Given the description of an element on the screen output the (x, y) to click on. 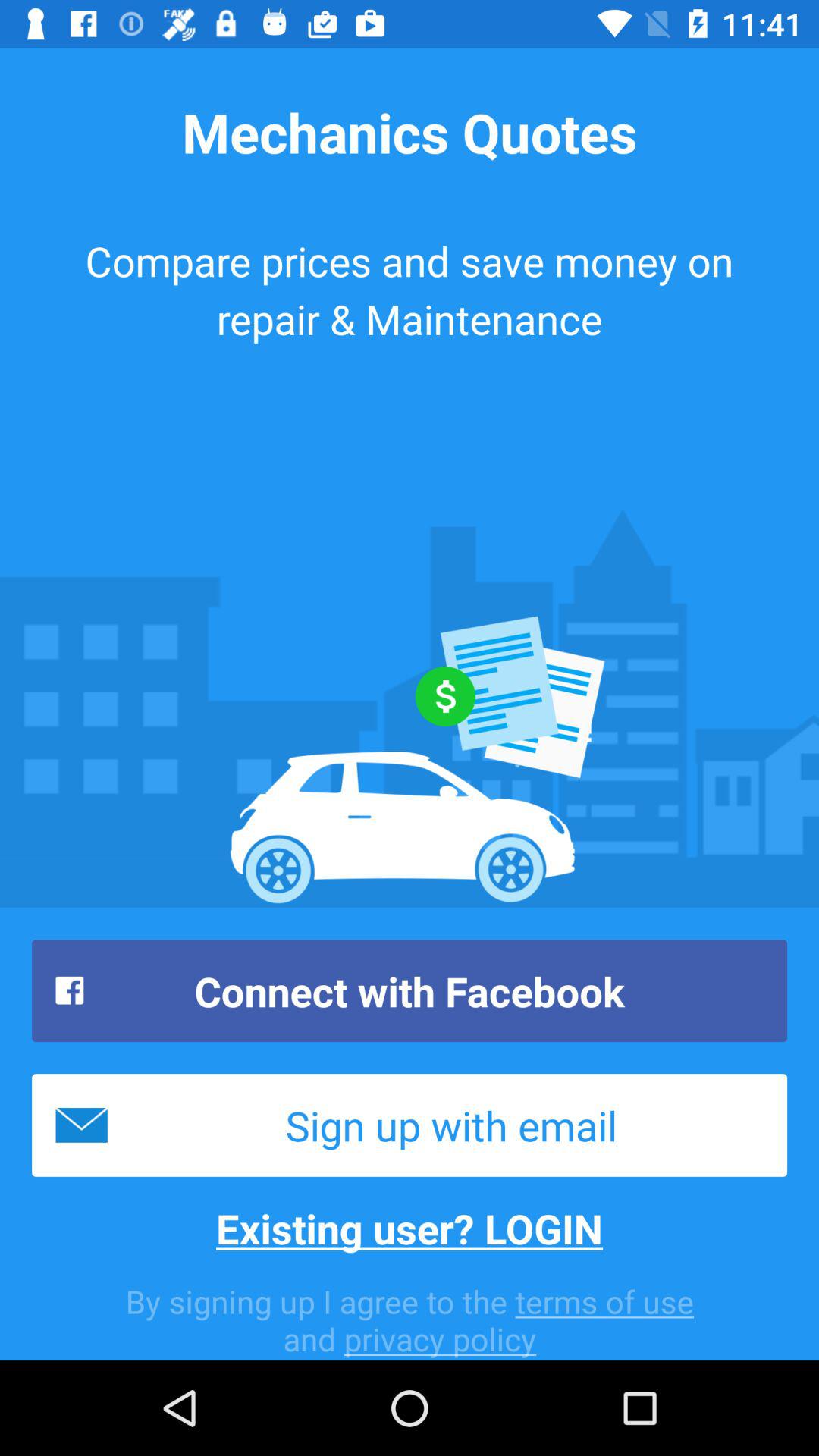
click the existing user? login icon (409, 1227)
